Given the description of an element on the screen output the (x, y) to click on. 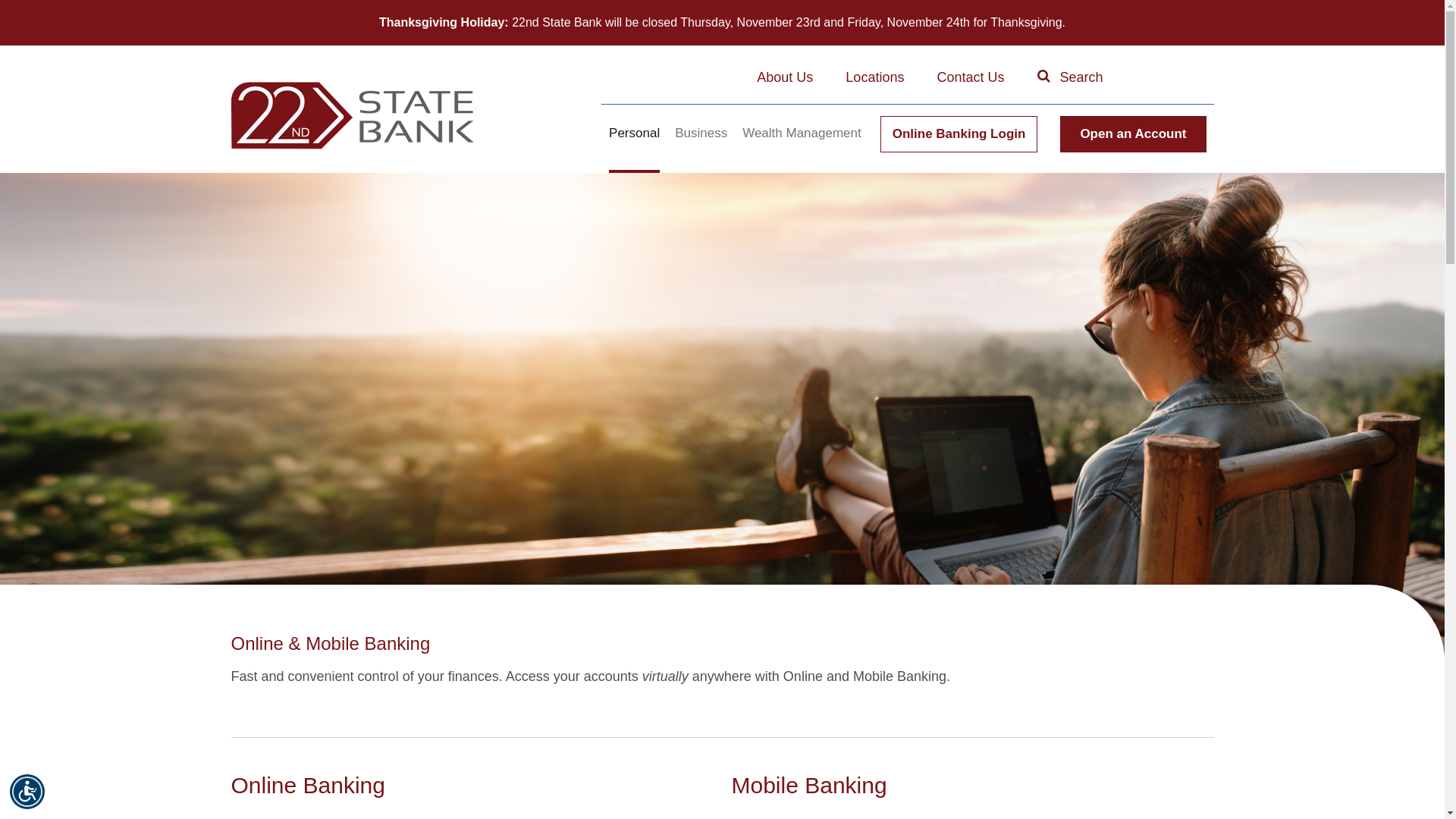
About Us Element type: text (784, 76)
Personal Element type: text (633, 144)
22nd State Bank Logo Element type: hover (351, 115)
Business Element type: text (700, 142)
Online Banking Login Element type: text (959, 134)
Locations Element type: text (874, 76)
Wealth Management Element type: text (801, 142)
Contact Us Element type: text (970, 76)
Open an Account Element type: text (1132, 134)
